Given the description of an element on the screen output the (x, y) to click on. 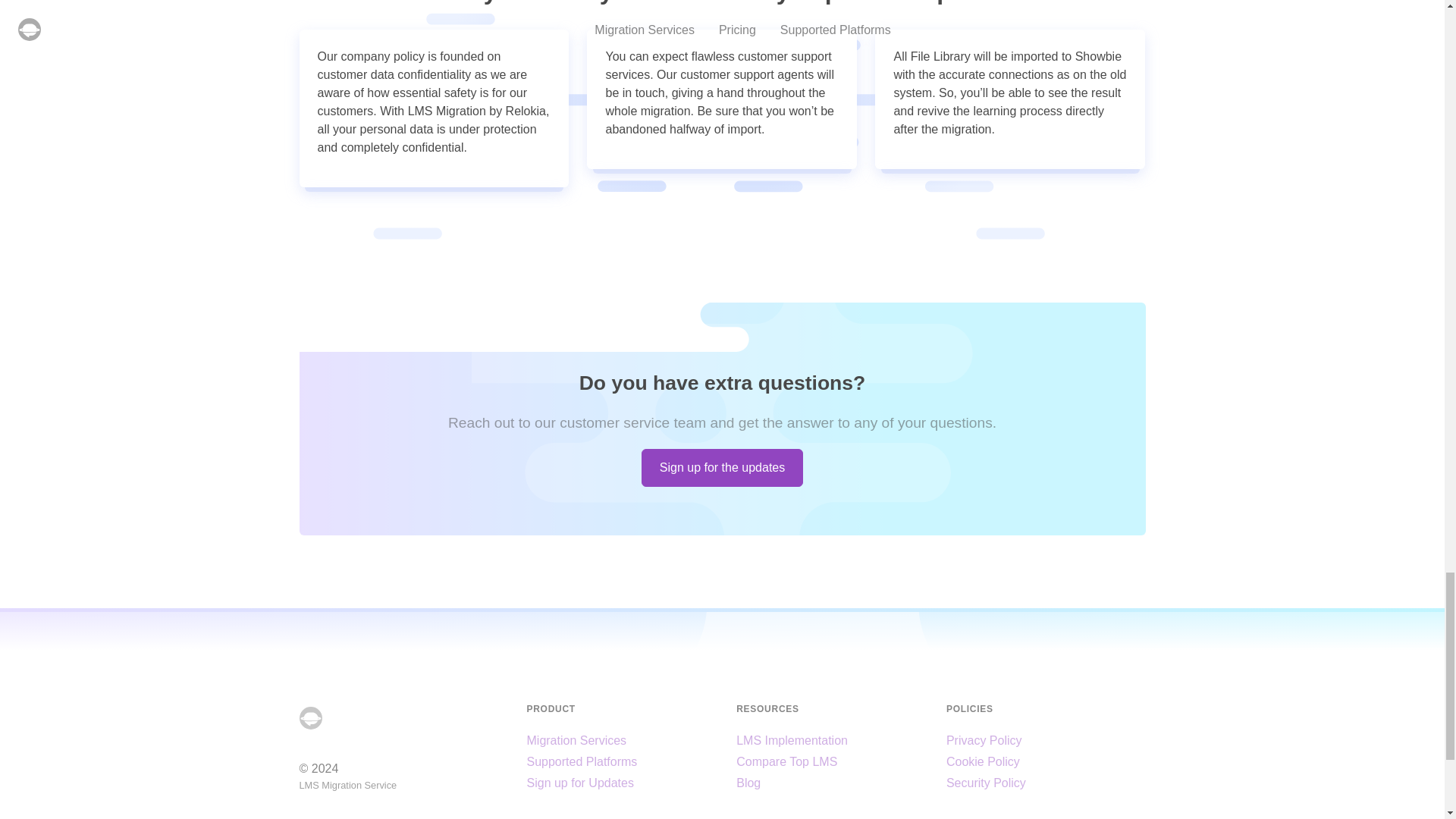
Privacy Policy (984, 739)
Cookie Policy (983, 761)
LMS Implementation (791, 739)
Sign up for Updates (579, 782)
Supported Platforms (581, 761)
Blog (748, 782)
Security Policy (986, 782)
Migration Services (575, 739)
Sign up for the updates (722, 467)
Compare Top LMS (786, 761)
